Given the description of an element on the screen output the (x, y) to click on. 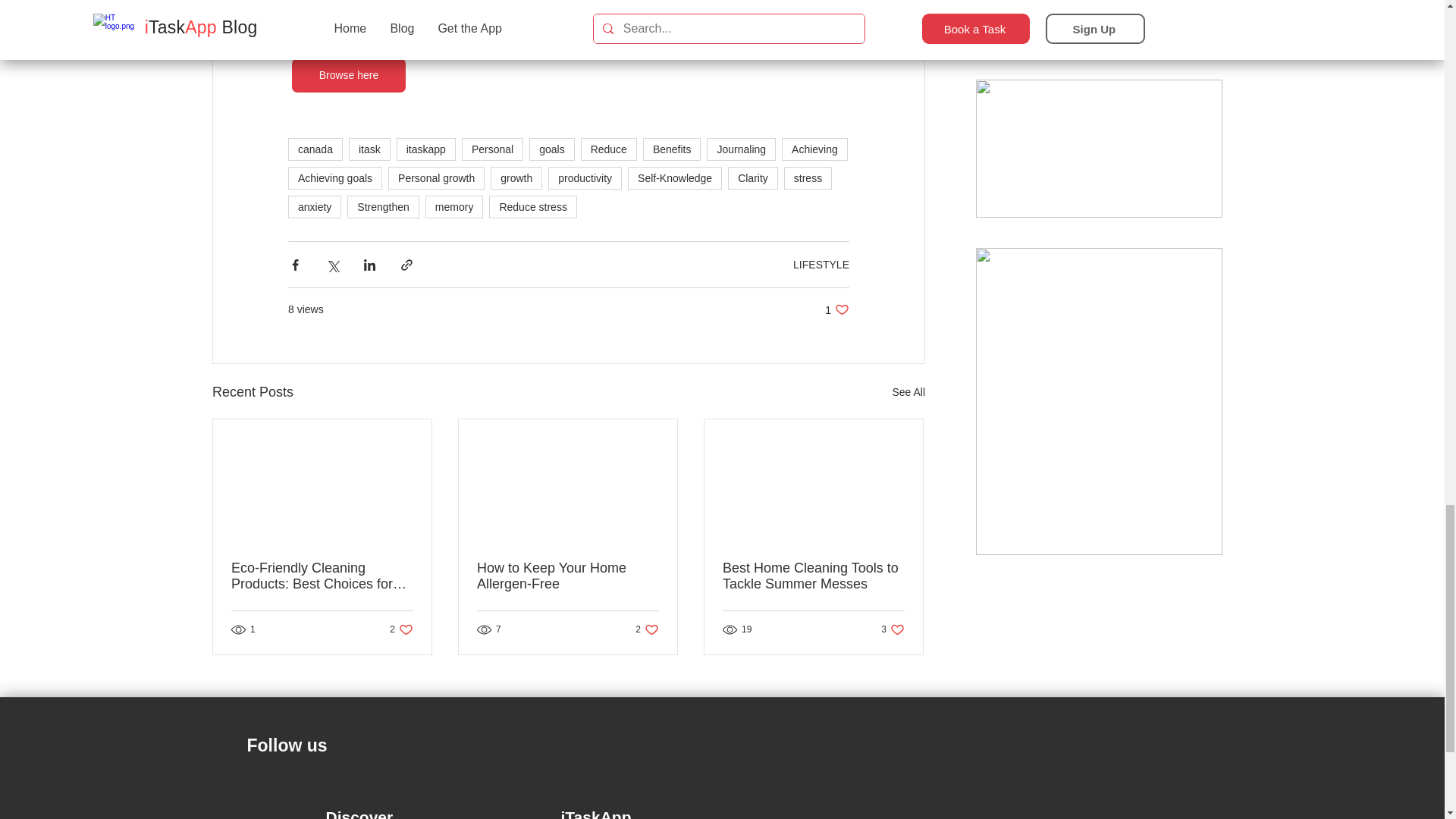
Self-Knowledge (674, 178)
Journaling (741, 149)
Achieving goals (334, 178)
growth (515, 178)
itask (369, 149)
productivity (584, 178)
Benefits (672, 149)
Personal (491, 149)
anxiety (314, 206)
Clarity (752, 178)
